Given the description of an element on the screen output the (x, y) to click on. 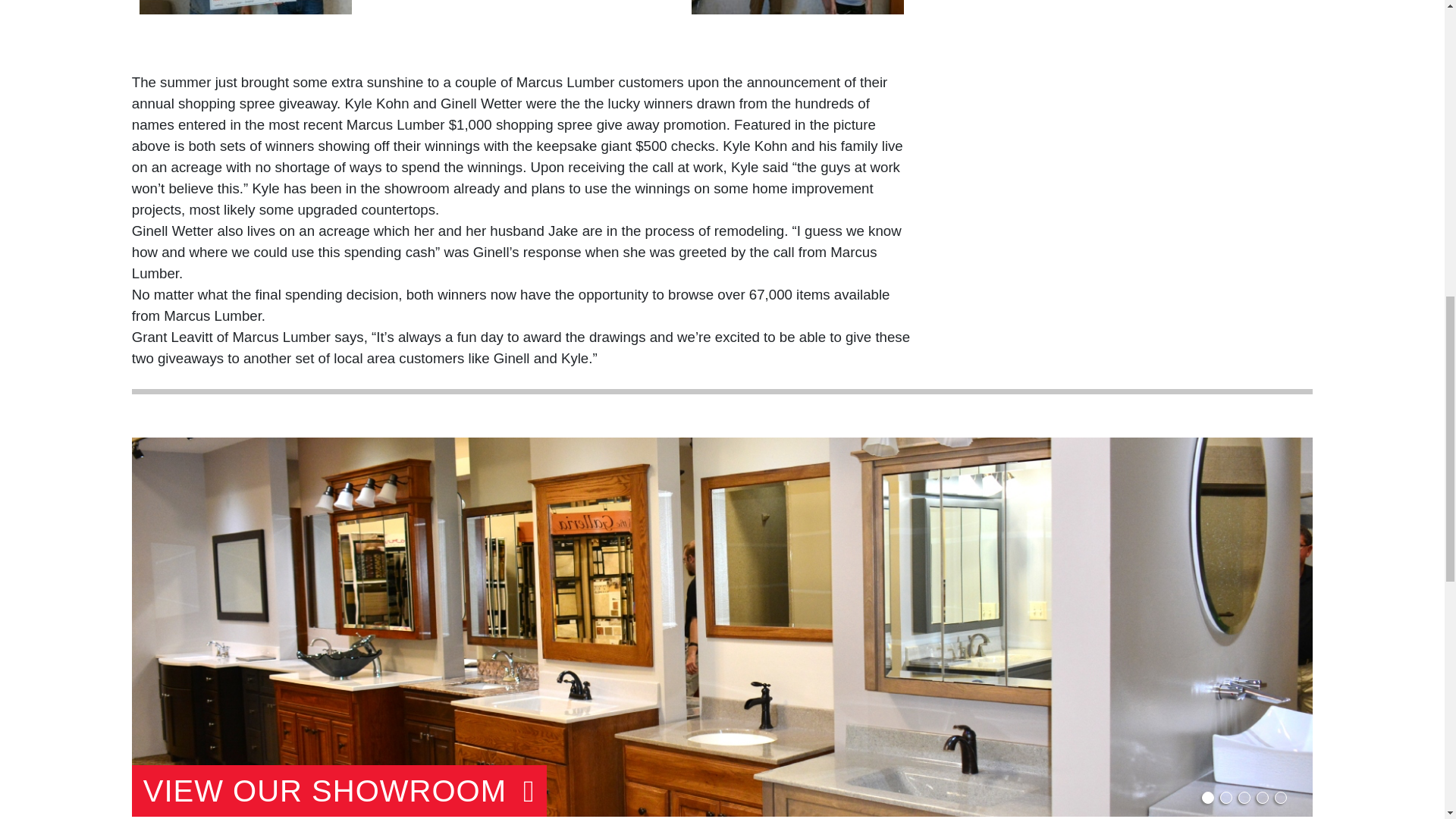
VIEW OUR SHOWROOM (338, 790)
